Given the description of an element on the screen output the (x, y) to click on. 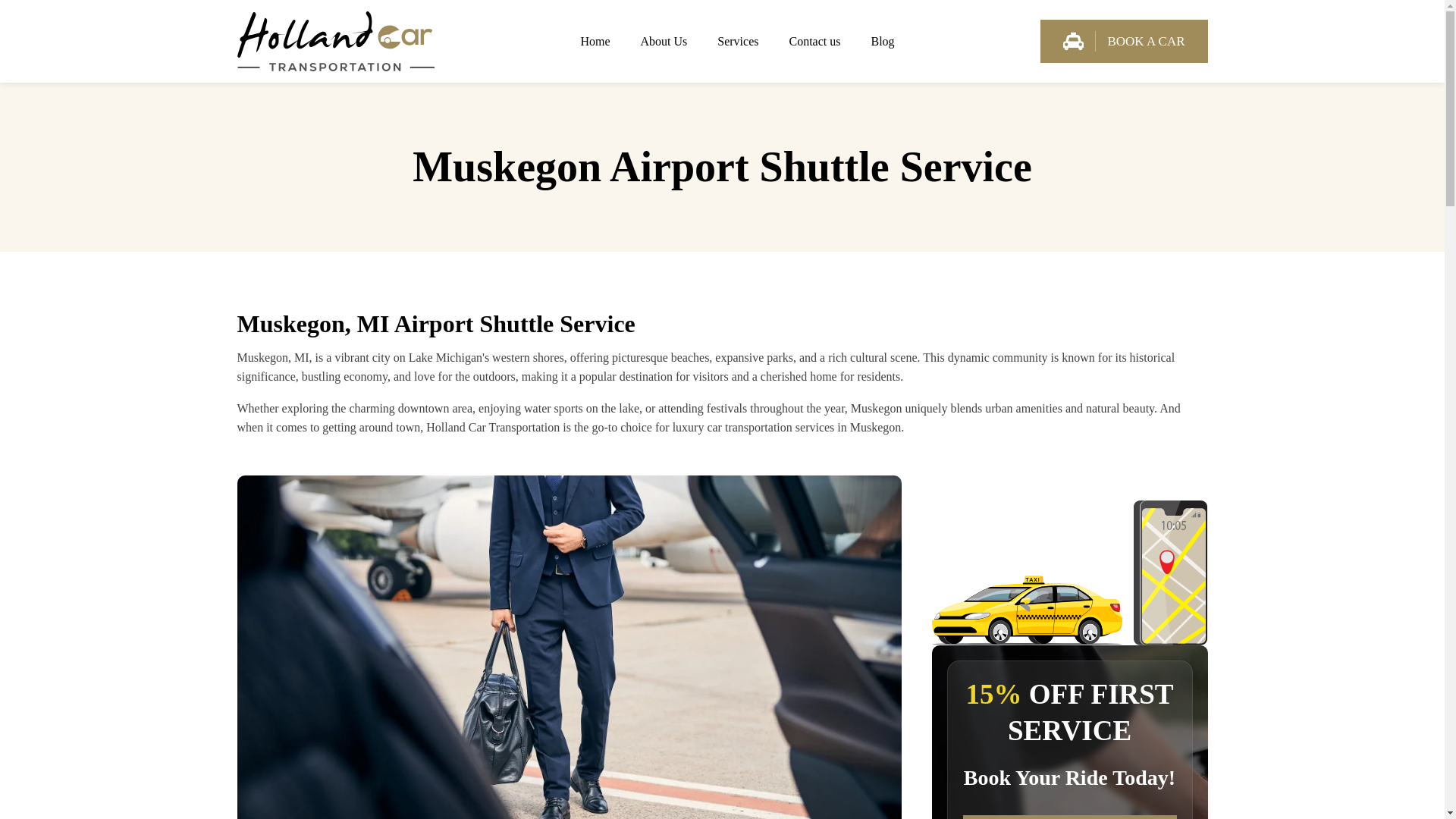
Blog (882, 41)
Contact us (814, 41)
Home (594, 41)
Services (737, 41)
About Us (662, 41)
BOOK A CAR (1124, 41)
BOOK NOW (1069, 816)
